Given the description of an element on the screen output the (x, y) to click on. 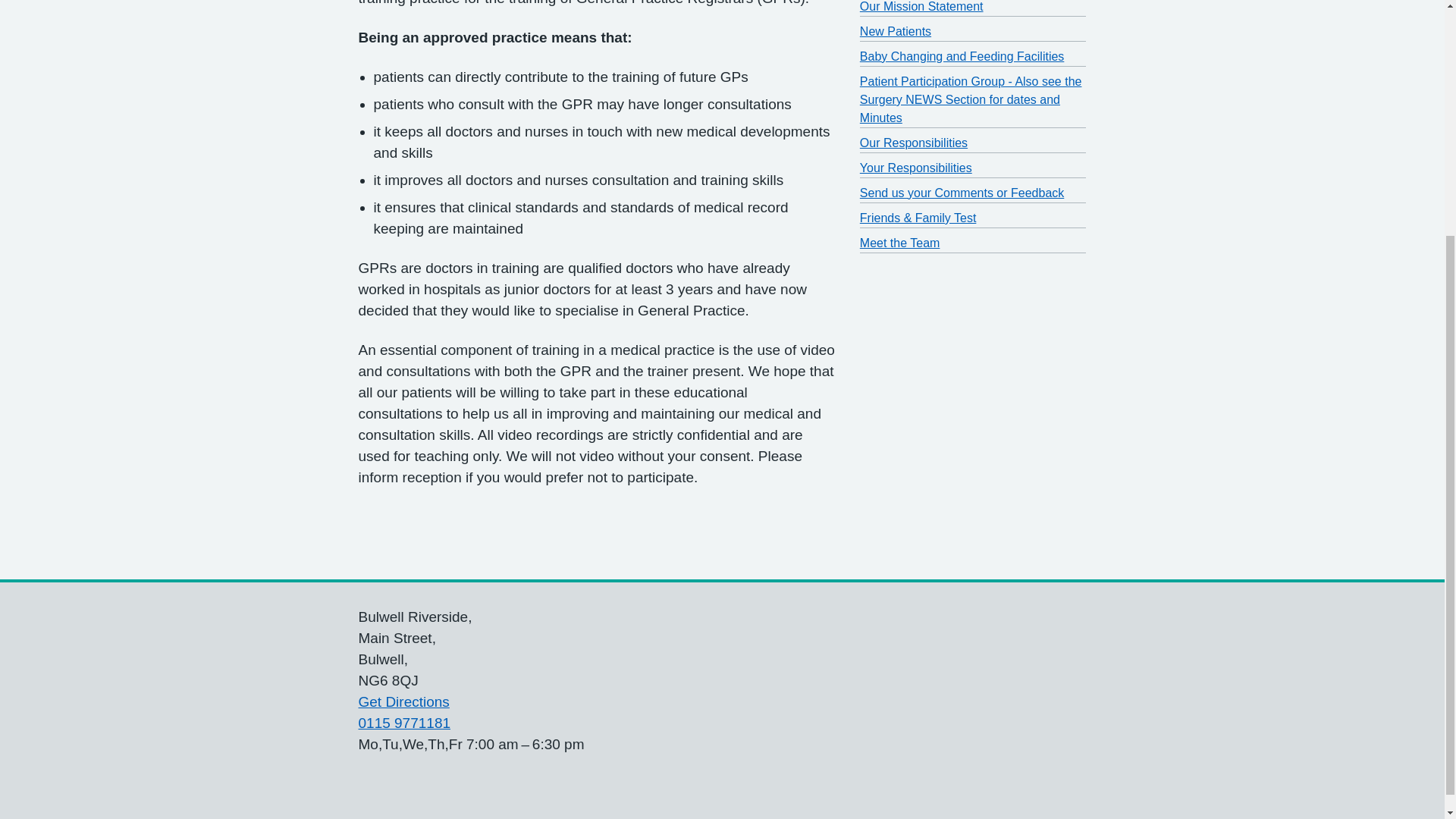
Meet the Team (900, 242)
Get Directions (403, 701)
Your Responsibilities (916, 167)
Send us your Comments or Feedback (962, 192)
Our Responsibilities (914, 142)
New Patients (895, 31)
Baby Changing and Feeding Facilities (962, 56)
Our Mission Statement (922, 6)
0115 9771181 (403, 722)
